Given the description of an element on the screen output the (x, y) to click on. 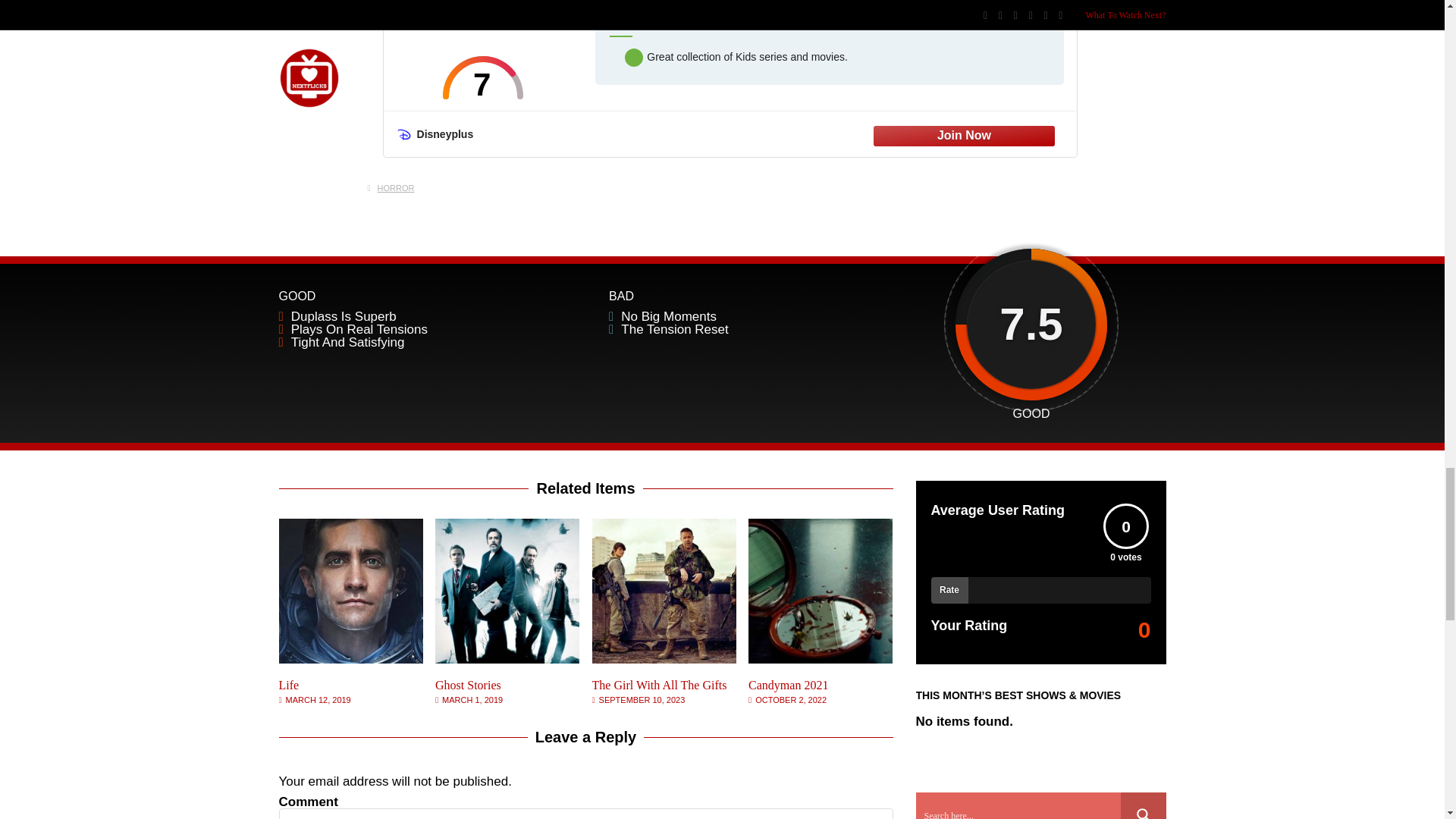
The Girl With All The Gifts (664, 658)
The Girl With All The Gifts (659, 684)
Ghost Stories (467, 684)
Ghost Stories (507, 658)
Life (289, 684)
Life (351, 658)
7 (483, 77)
